Given the description of an element on the screen output the (x, y) to click on. 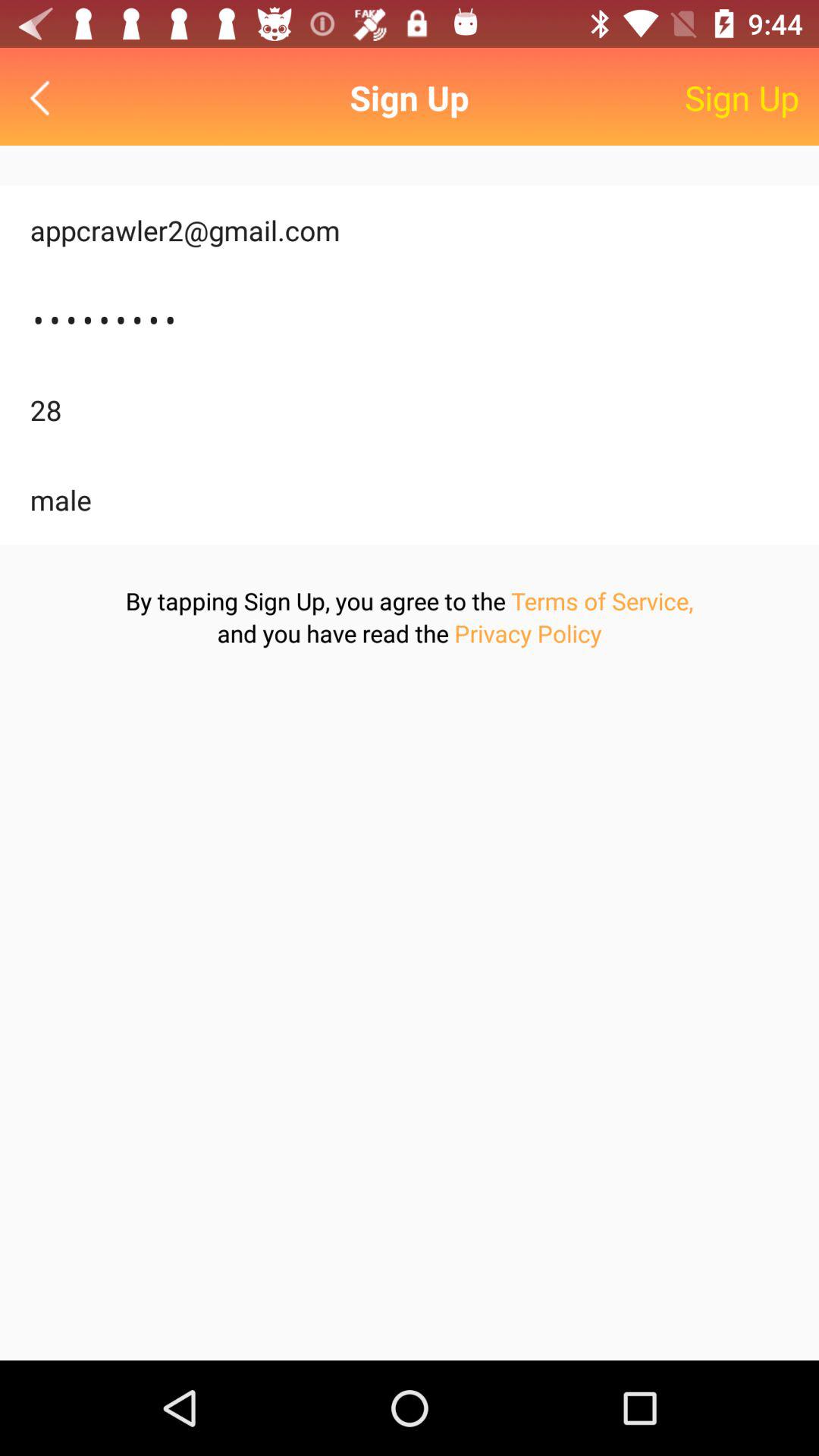
press item above the privacy policy icon (602, 600)
